Given the description of an element on the screen output the (x, y) to click on. 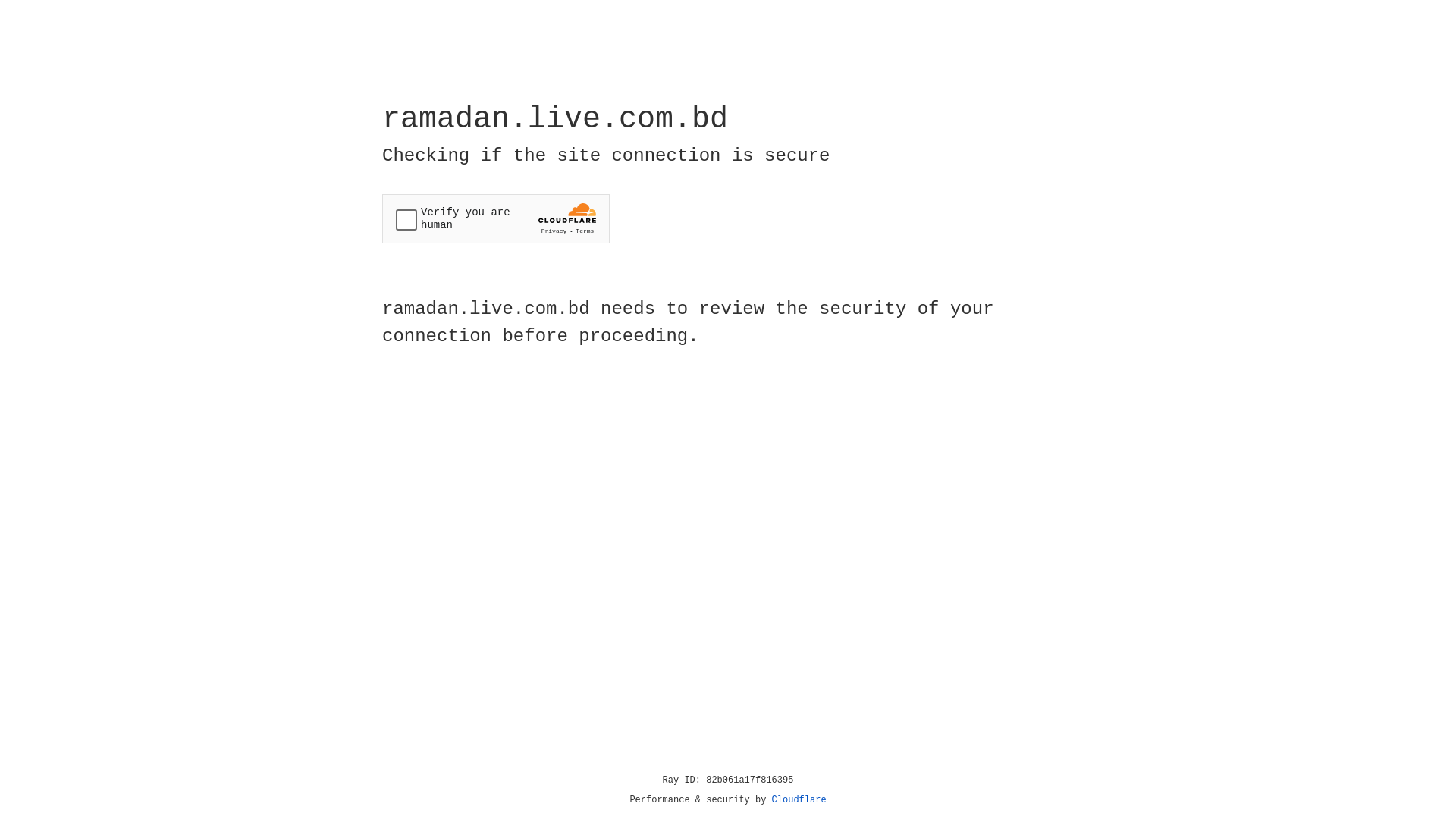
Cloudflare Element type: text (798, 799)
Widget containing a Cloudflare security challenge Element type: hover (495, 218)
